Given the description of an element on the screen output the (x, y) to click on. 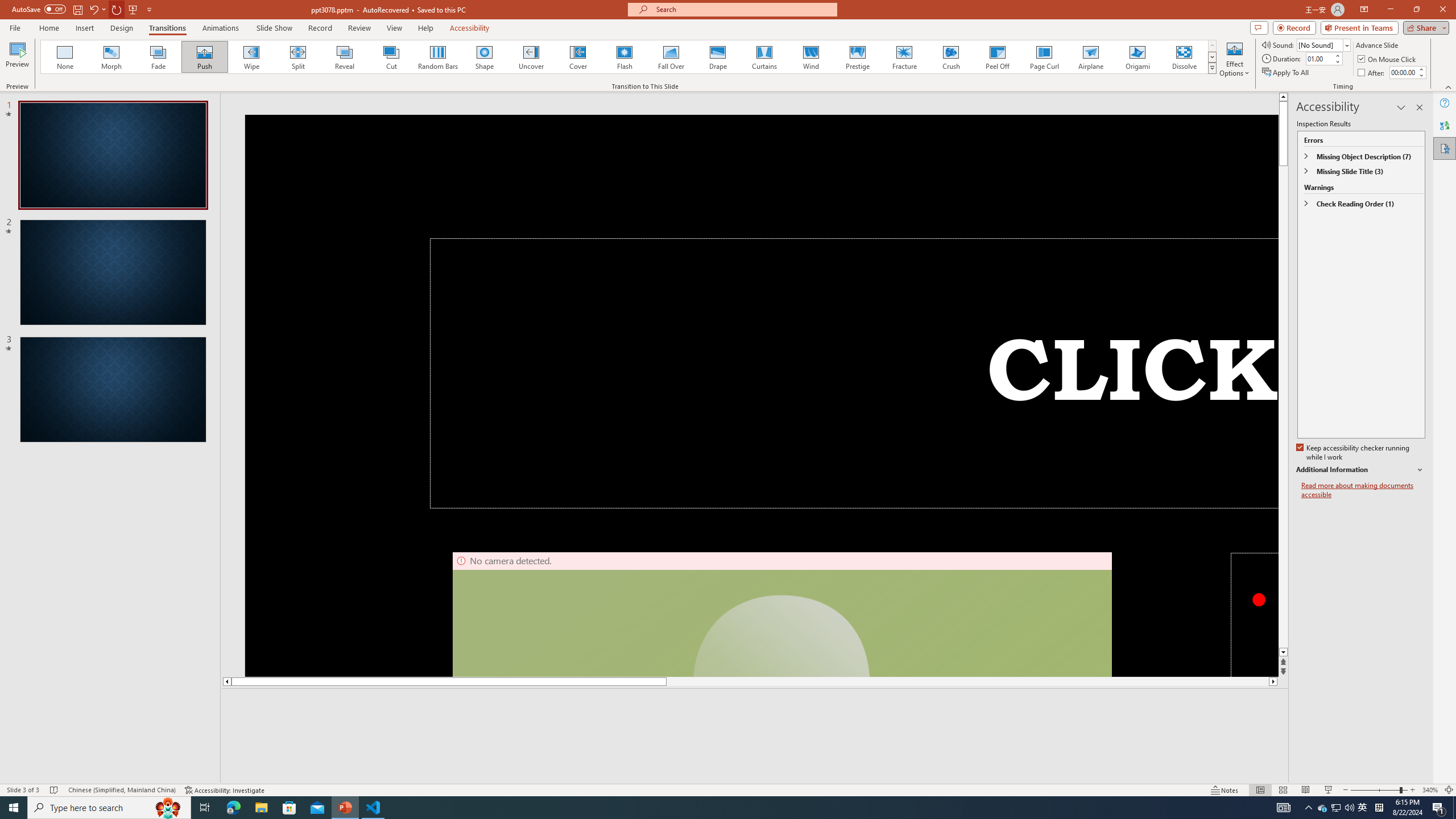
Origami (1136, 56)
Curtains (764, 56)
AutomationID: AnimationTransitionGallery (628, 56)
Flash (624, 56)
Sound (1324, 44)
Wind (810, 56)
